Given the description of an element on the screen output the (x, y) to click on. 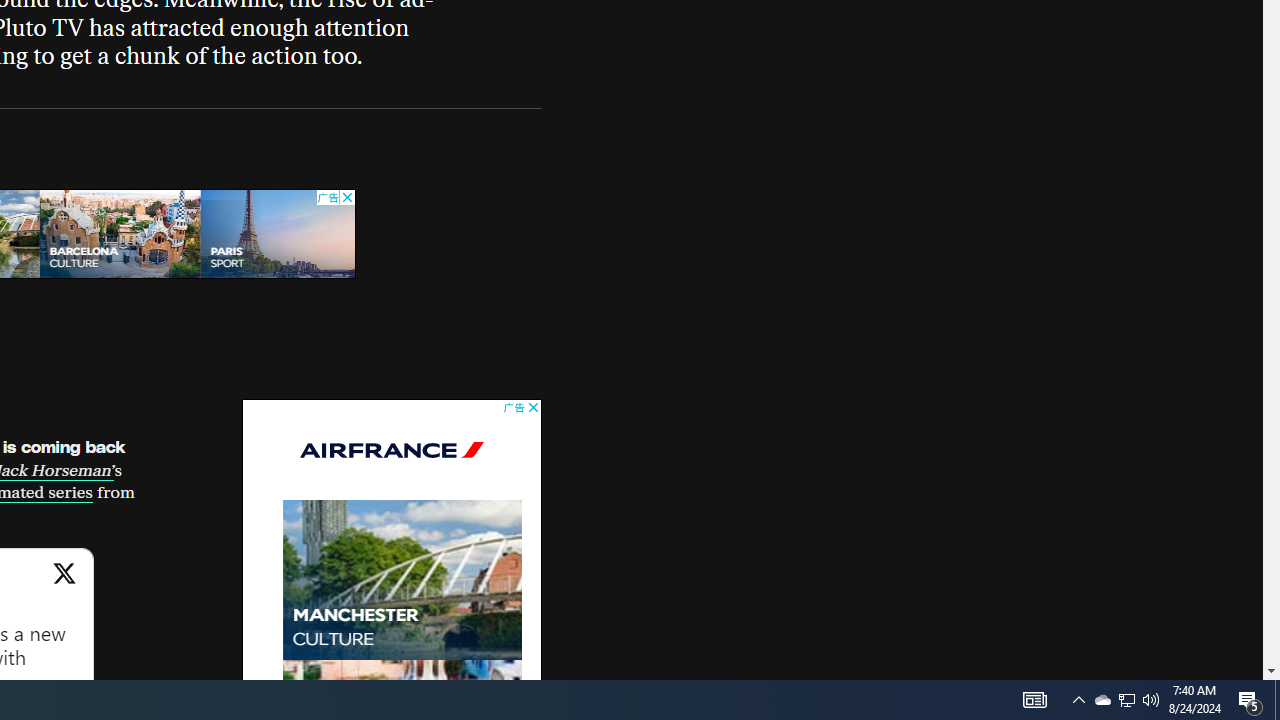
AutomationID: cbb (532, 408)
View on X (64, 584)
